Given the description of an element on the screen output the (x, y) to click on. 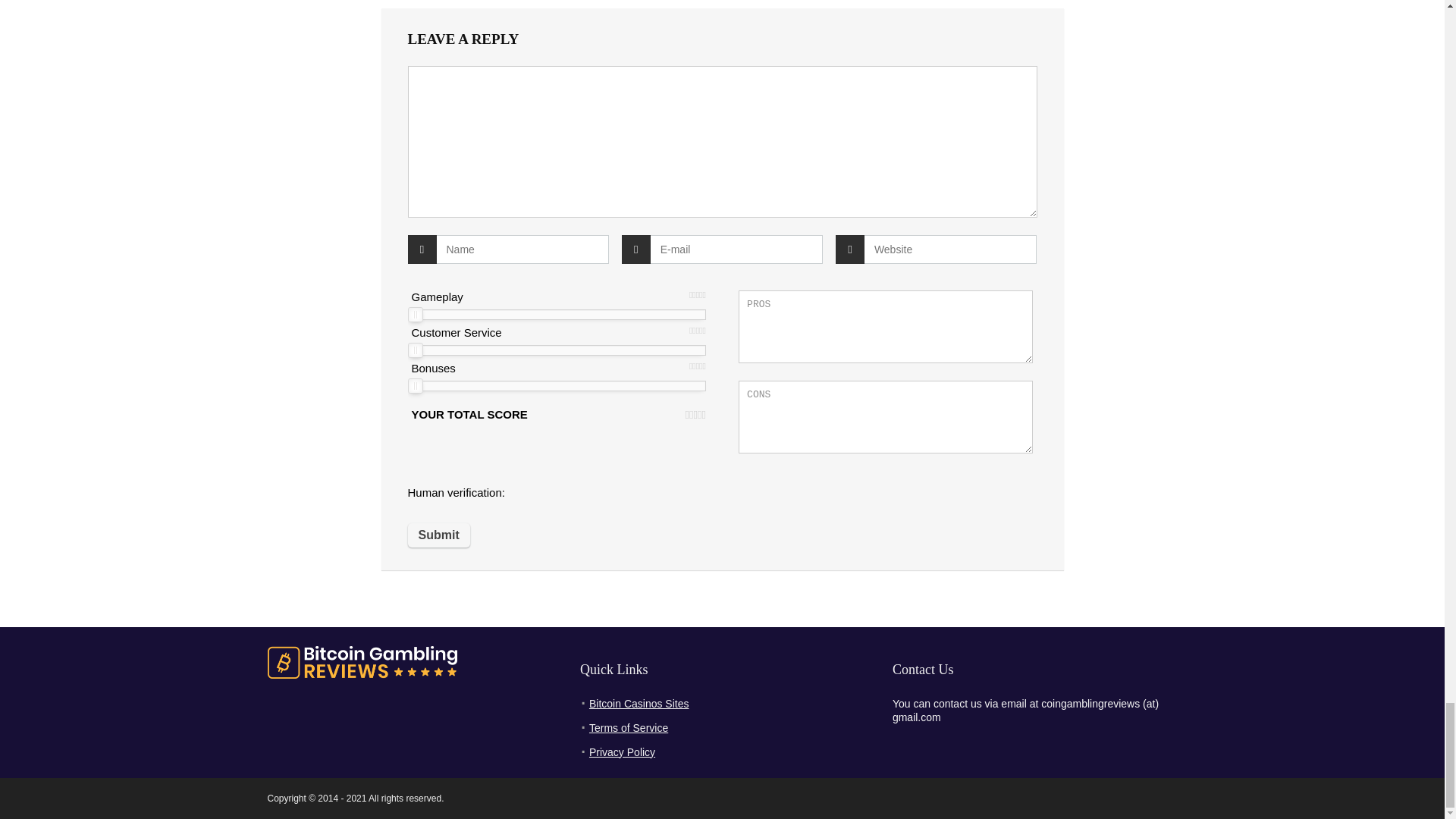
Submit (438, 535)
Terms of Service (628, 727)
Privacy Policy (622, 752)
Submit (438, 535)
Bitcoin Casinos Sites (638, 703)
